Given the description of an element on the screen output the (x, y) to click on. 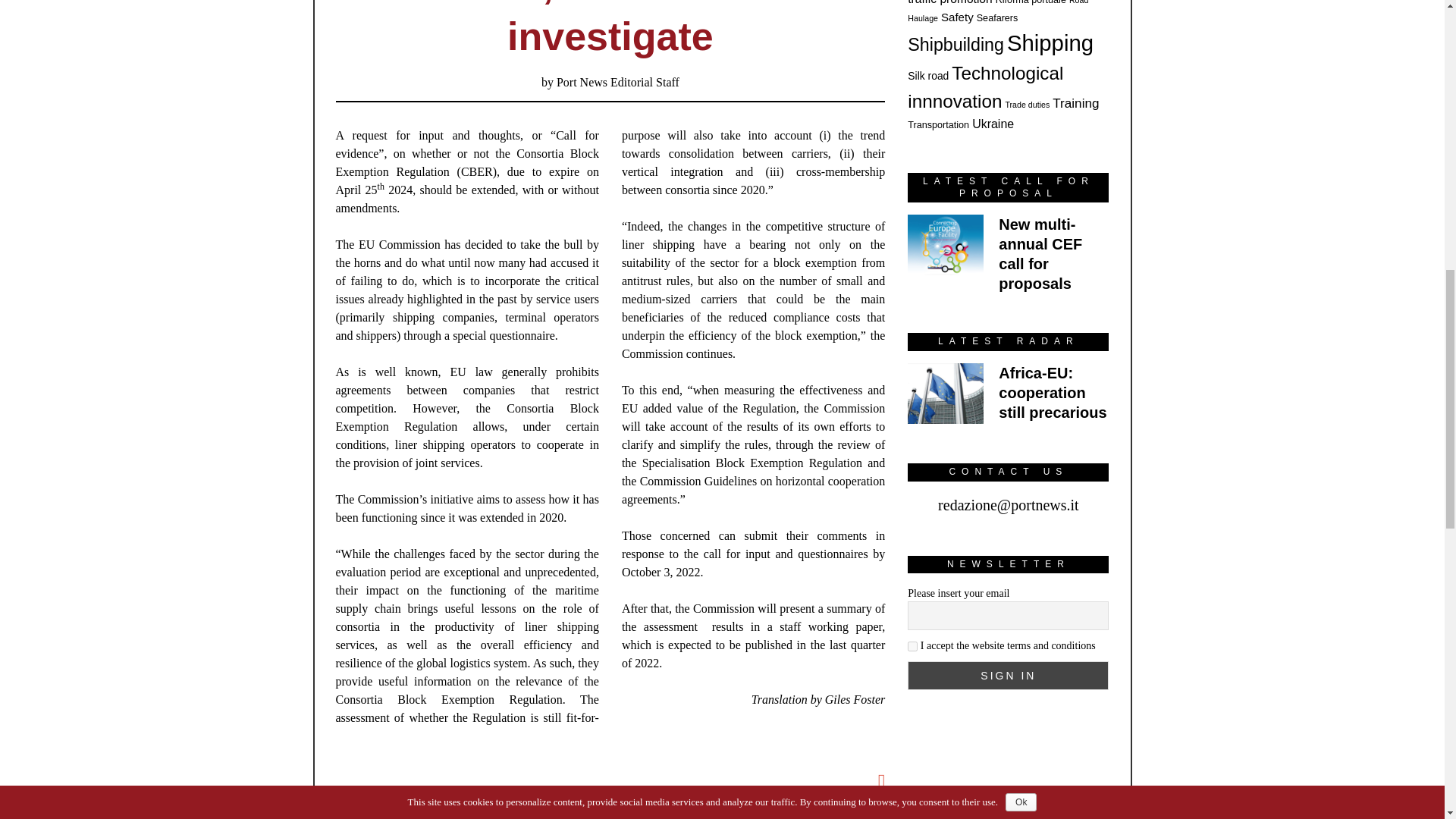
on (912, 646)
LINKEDIN (761, 815)
FACEBOOK (458, 815)
Facebook (458, 815)
Twitter (609, 815)
Sign in (1007, 675)
TWITTER (609, 815)
